Given the description of an element on the screen output the (x, y) to click on. 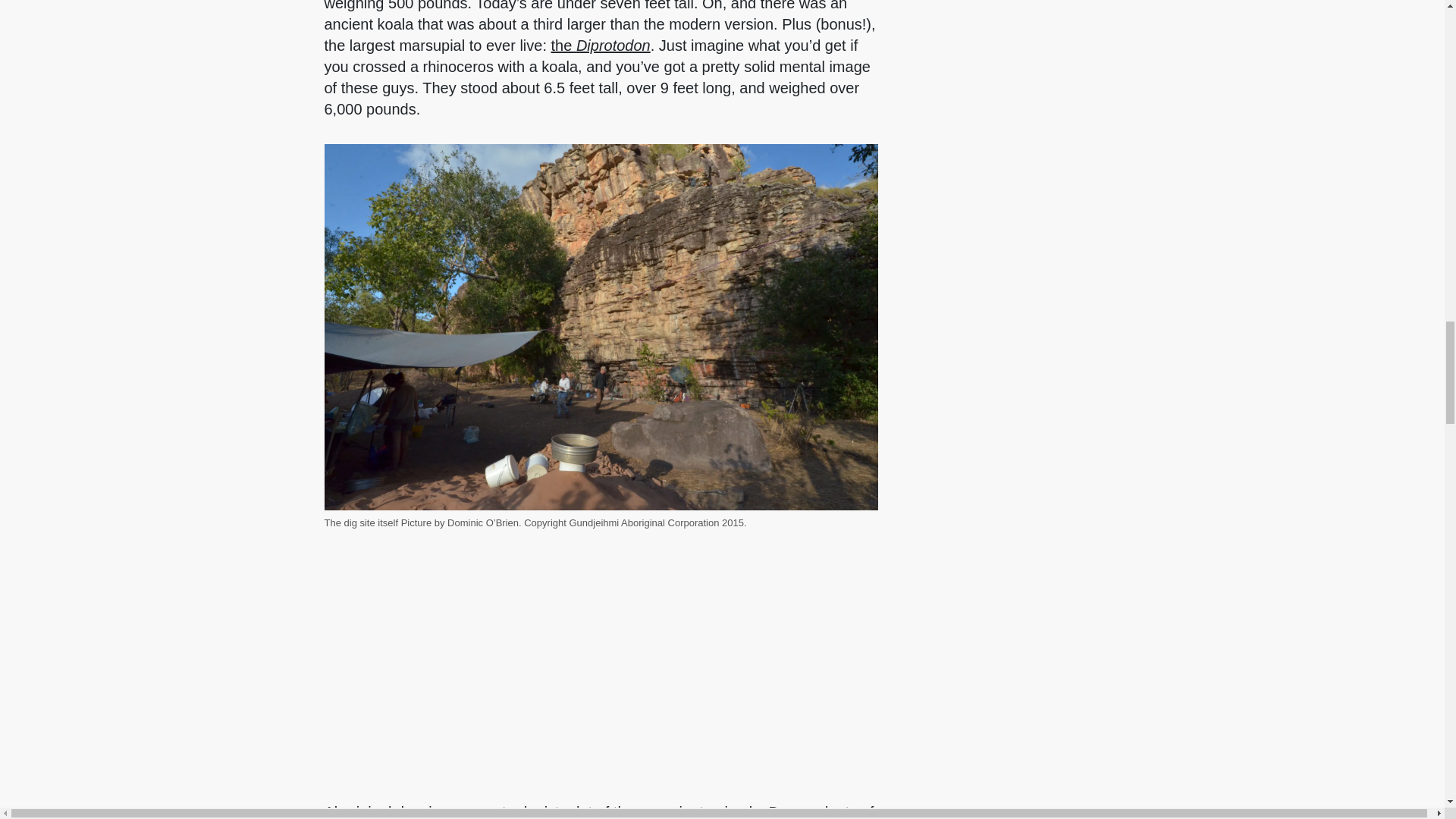
3rd party ad content (1165, 170)
